Given the description of an element on the screen output the (x, y) to click on. 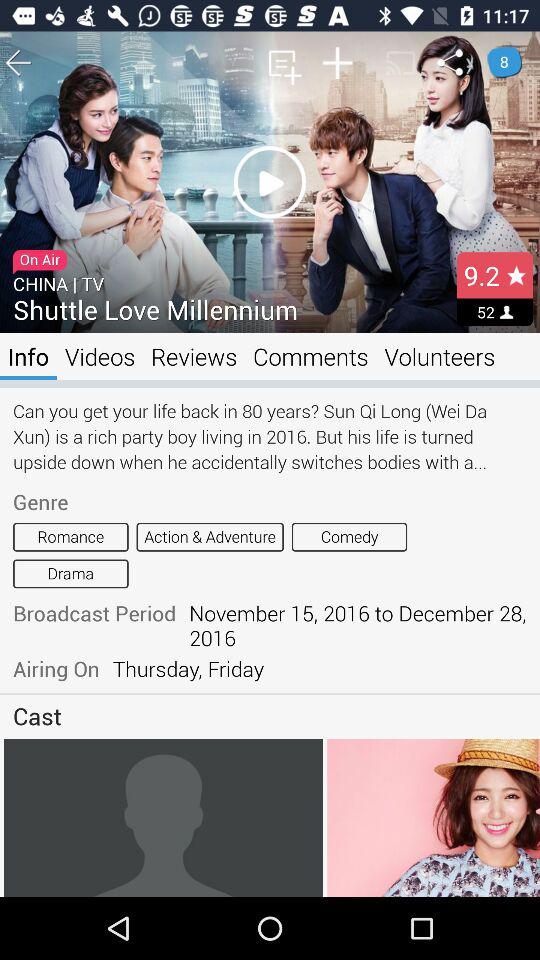
turn off item to the right of info item (100, 356)
